Given the description of an element on the screen output the (x, y) to click on. 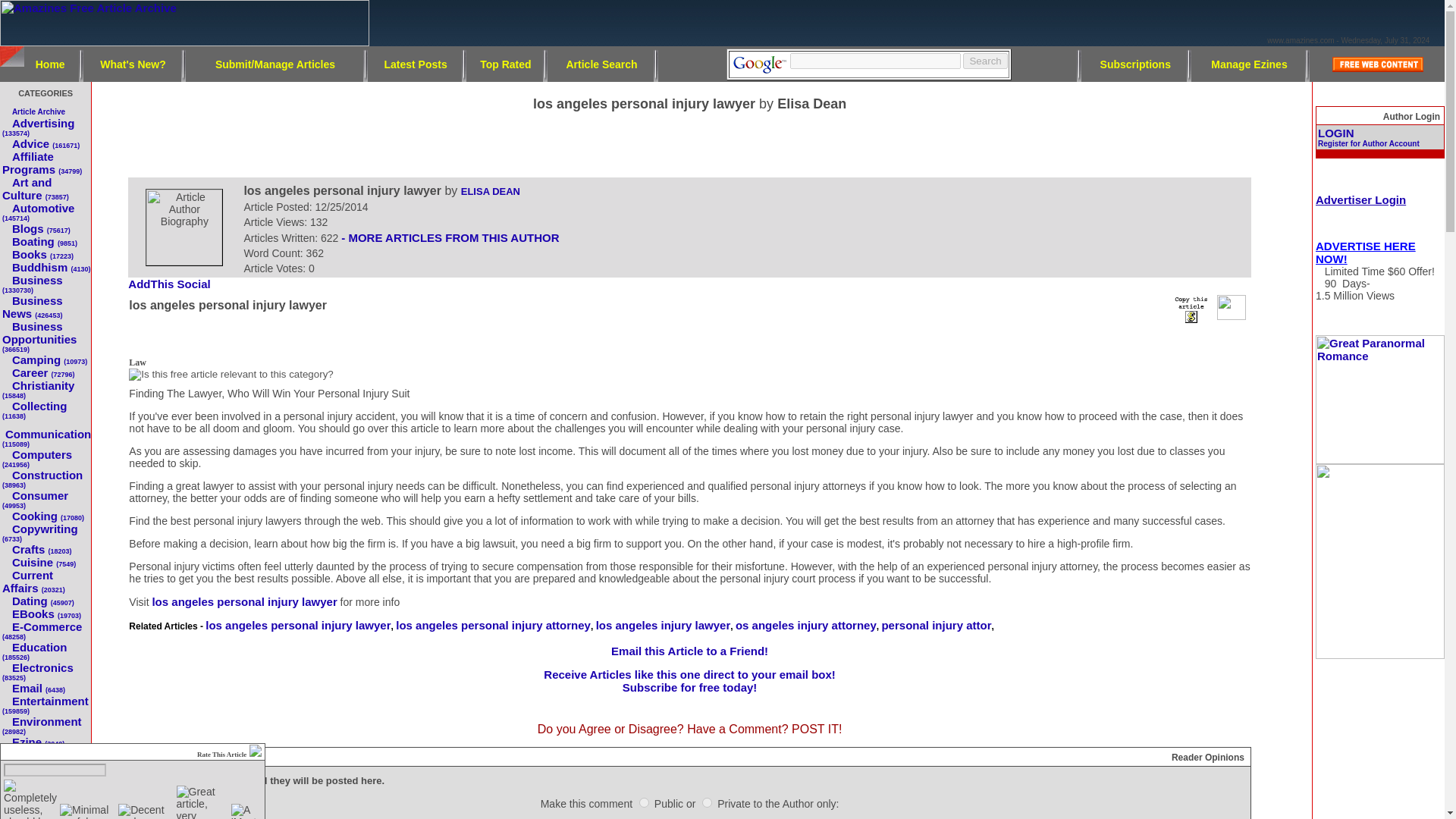
Manage Ezines (1249, 63)
Subscriptions (1135, 63)
Top Rated (505, 63)
Search (984, 60)
What's New? (132, 63)
Article Search (601, 63)
Home (49, 63)
Public (644, 802)
Article Archive (38, 110)
Bookmark using any bookmark manager! (175, 285)
